Given the description of an element on the screen output the (x, y) to click on. 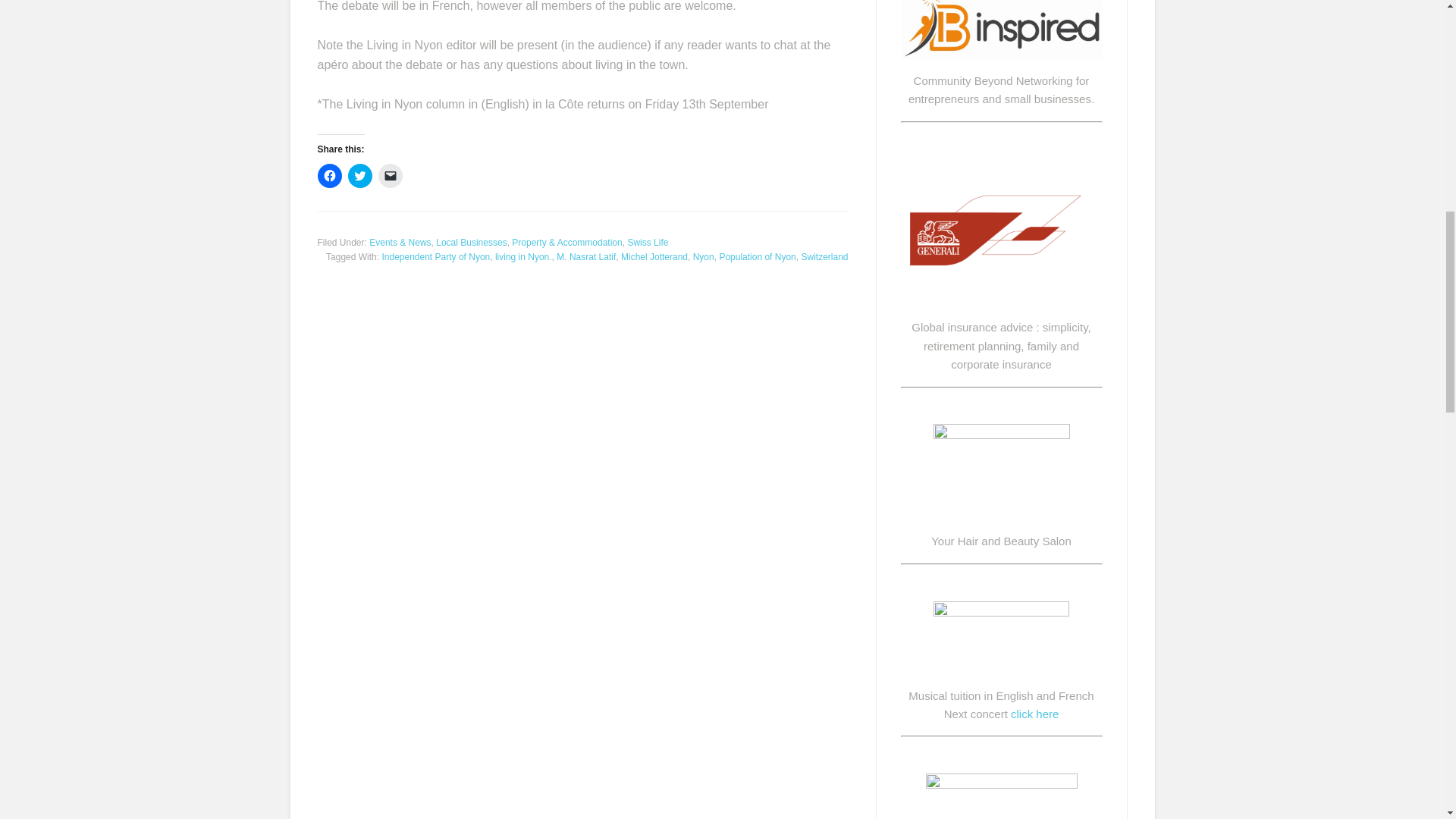
Click to share on Twitter (359, 175)
Click to share on Facebook (328, 175)
Independent Party of Nyon (435, 256)
living in Nyon. (523, 256)
Nyon (703, 256)
Switzerland (823, 256)
Click to email a link to a friend (389, 175)
Michel Jotterand (654, 256)
Local Businesses (470, 242)
M. Nasrat Latif (585, 256)
